Given the description of an element on the screen output the (x, y) to click on. 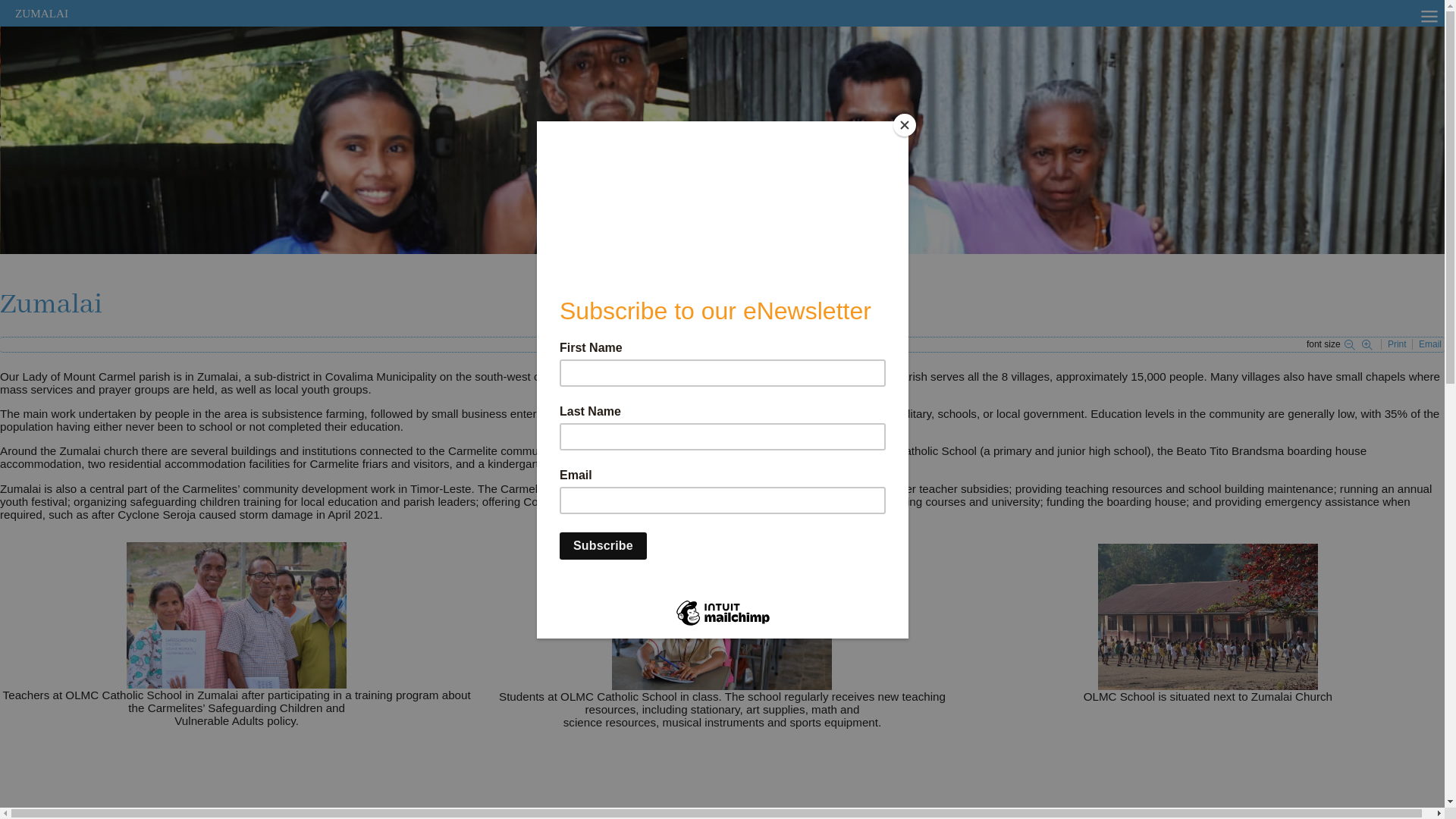
Print Element type: text (1397, 343)
Email Element type: text (1429, 343)
